Given the description of an element on the screen output the (x, y) to click on. 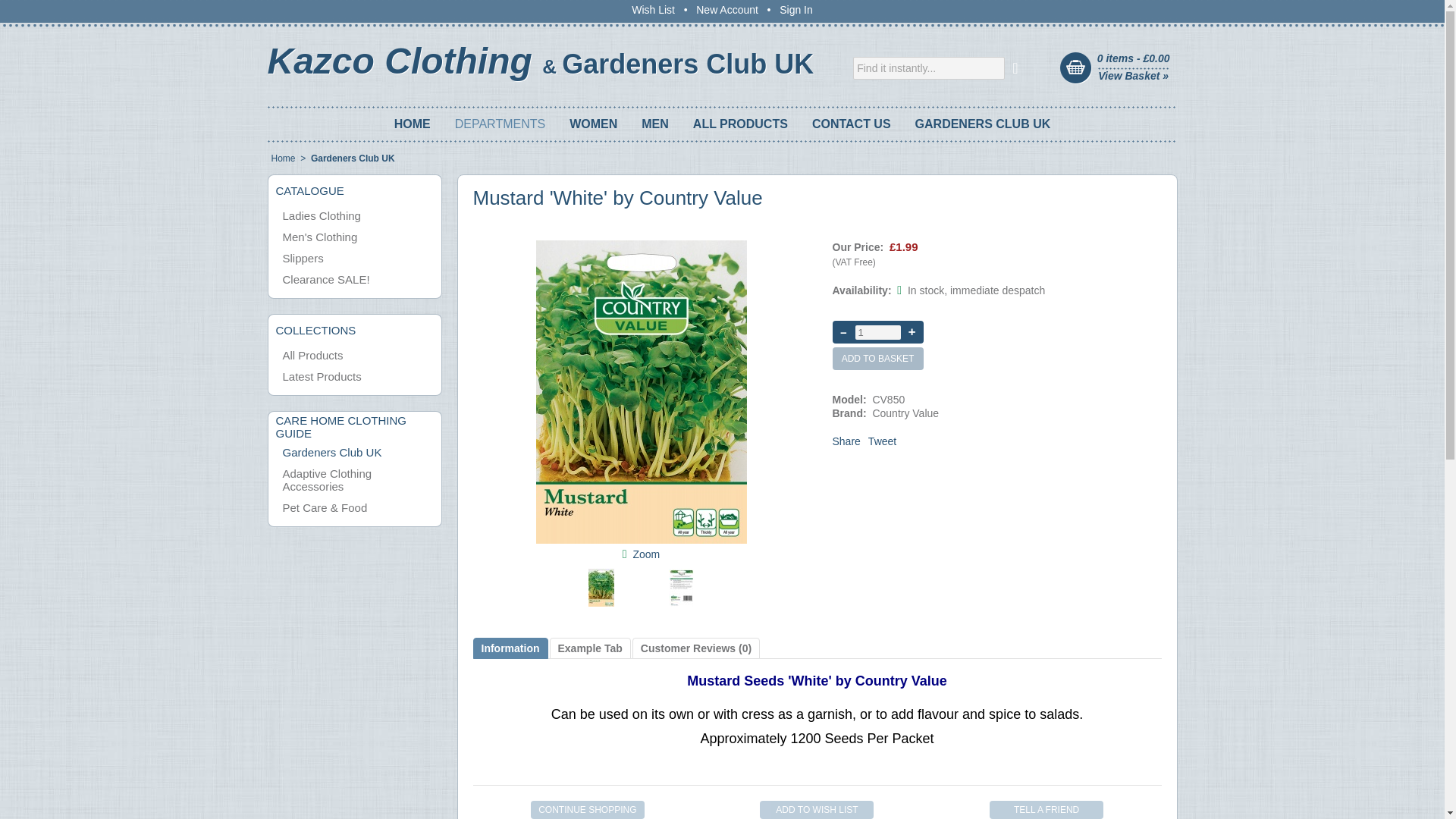
Ladies Clothing (320, 215)
Mustard 'White' by Country Value (645, 553)
All Products (312, 354)
Men's Clothing (319, 236)
Slippers (302, 257)
TELL A FRIEND (1046, 809)
1 (878, 331)
Information (510, 648)
CONTINUE SHOPPING (588, 809)
Tweet (881, 440)
